Given the description of an element on the screen output the (x, y) to click on. 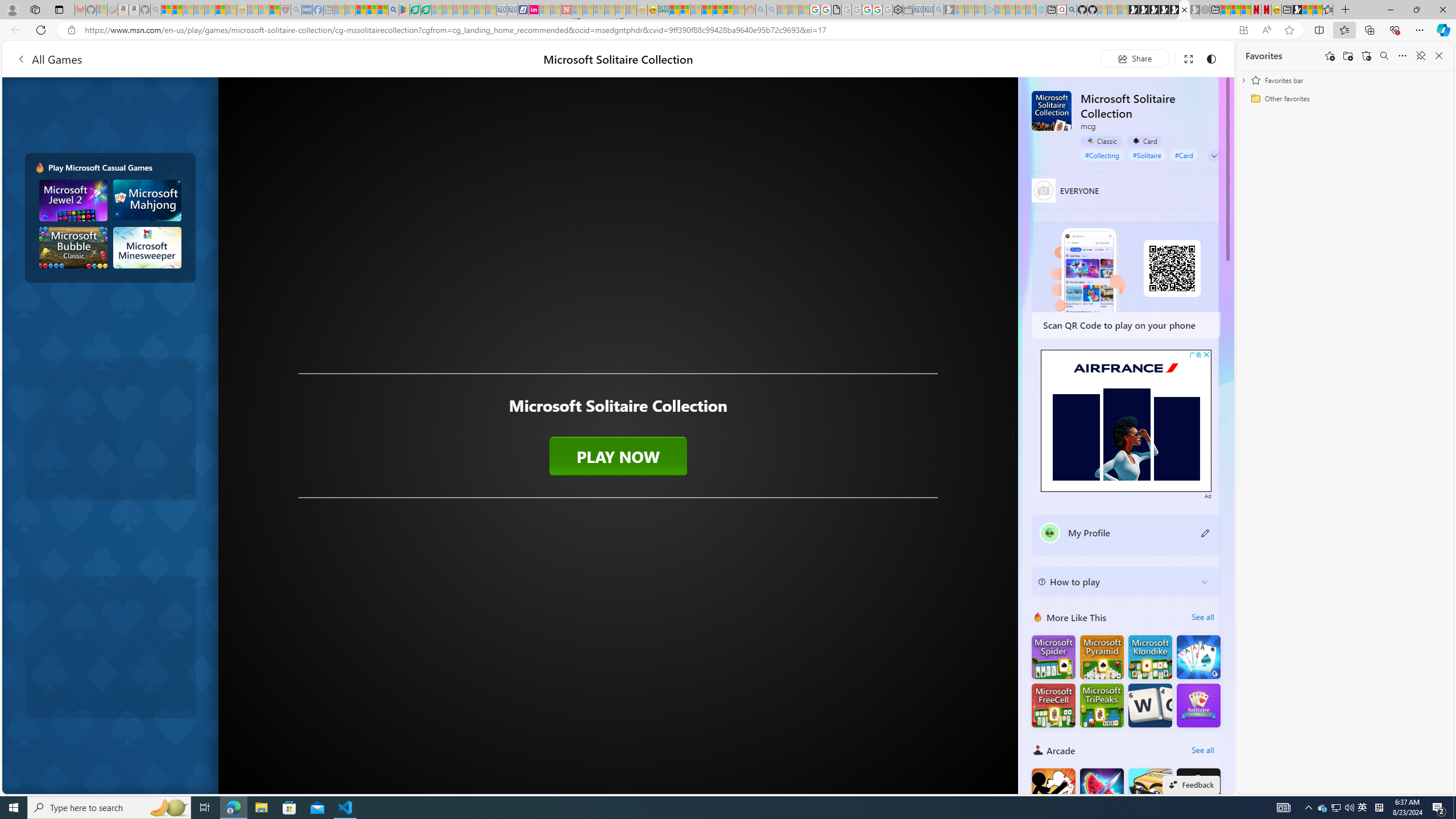
Microsoft Ultimate Word Games (1149, 705)
Classic (1101, 141)
New tab - Sleeping (328, 9)
Latest Politics News & Archive | Newsweek.com - Sleeping (566, 9)
Stickman Fighter : Mega Brawl (1053, 789)
Microsoft Mahjong (147, 200)
